Given the description of an element on the screen output the (x, y) to click on. 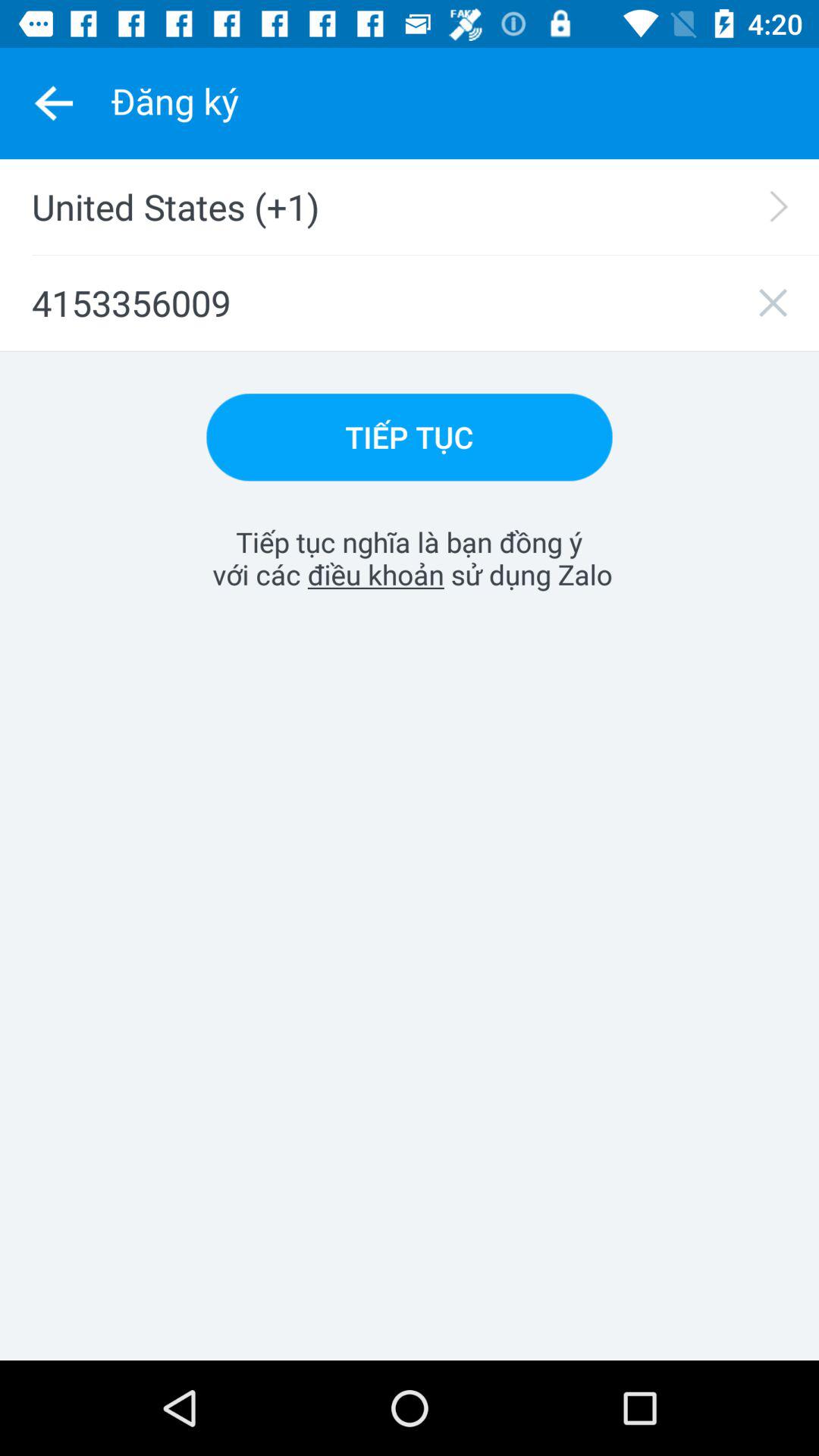
open united states (+1) (419, 206)
